Given the description of an element on the screen output the (x, y) to click on. 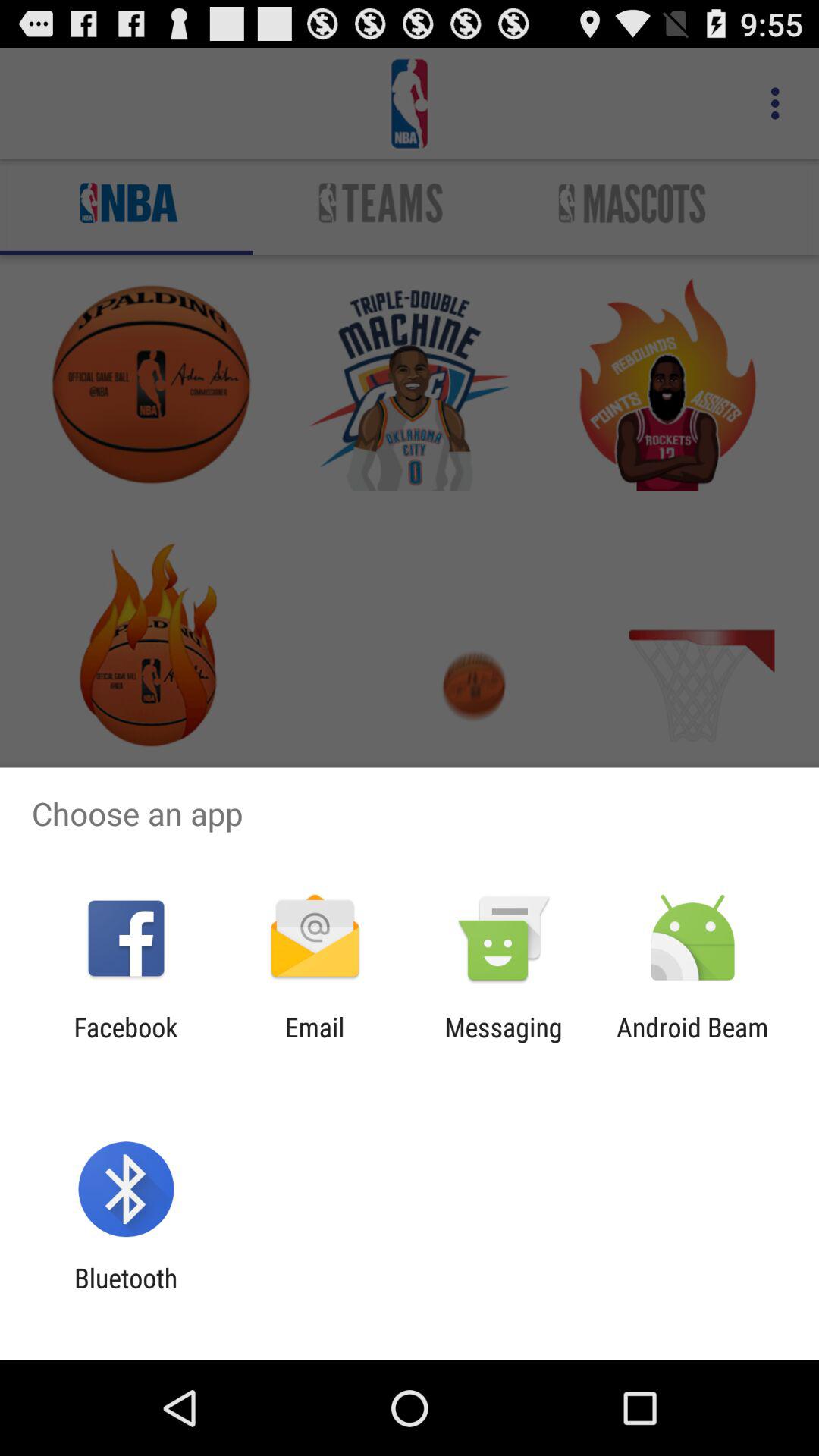
tap the bluetooth item (125, 1293)
